Given the description of an element on the screen output the (x, y) to click on. 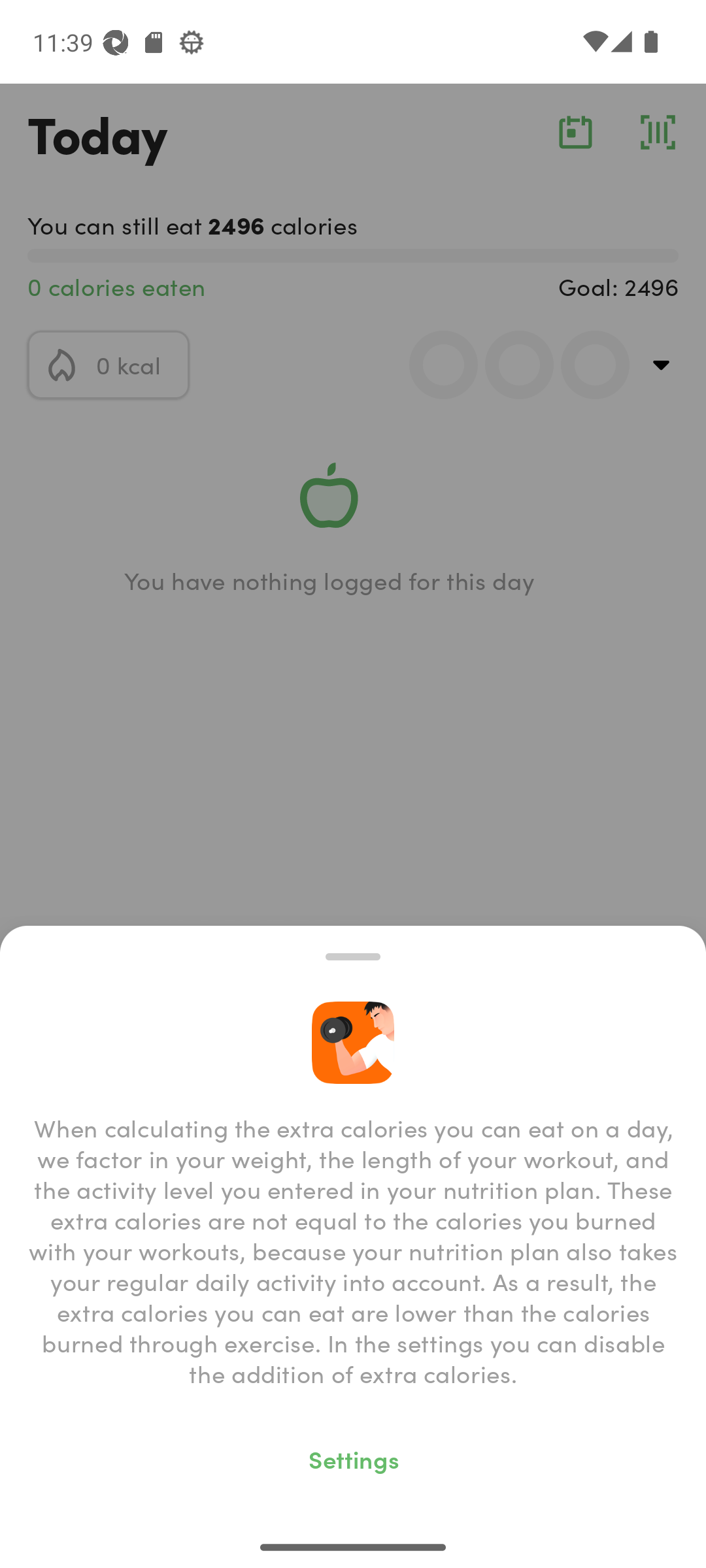
Settings (353, 1458)
